Given the description of an element on the screen output the (x, y) to click on. 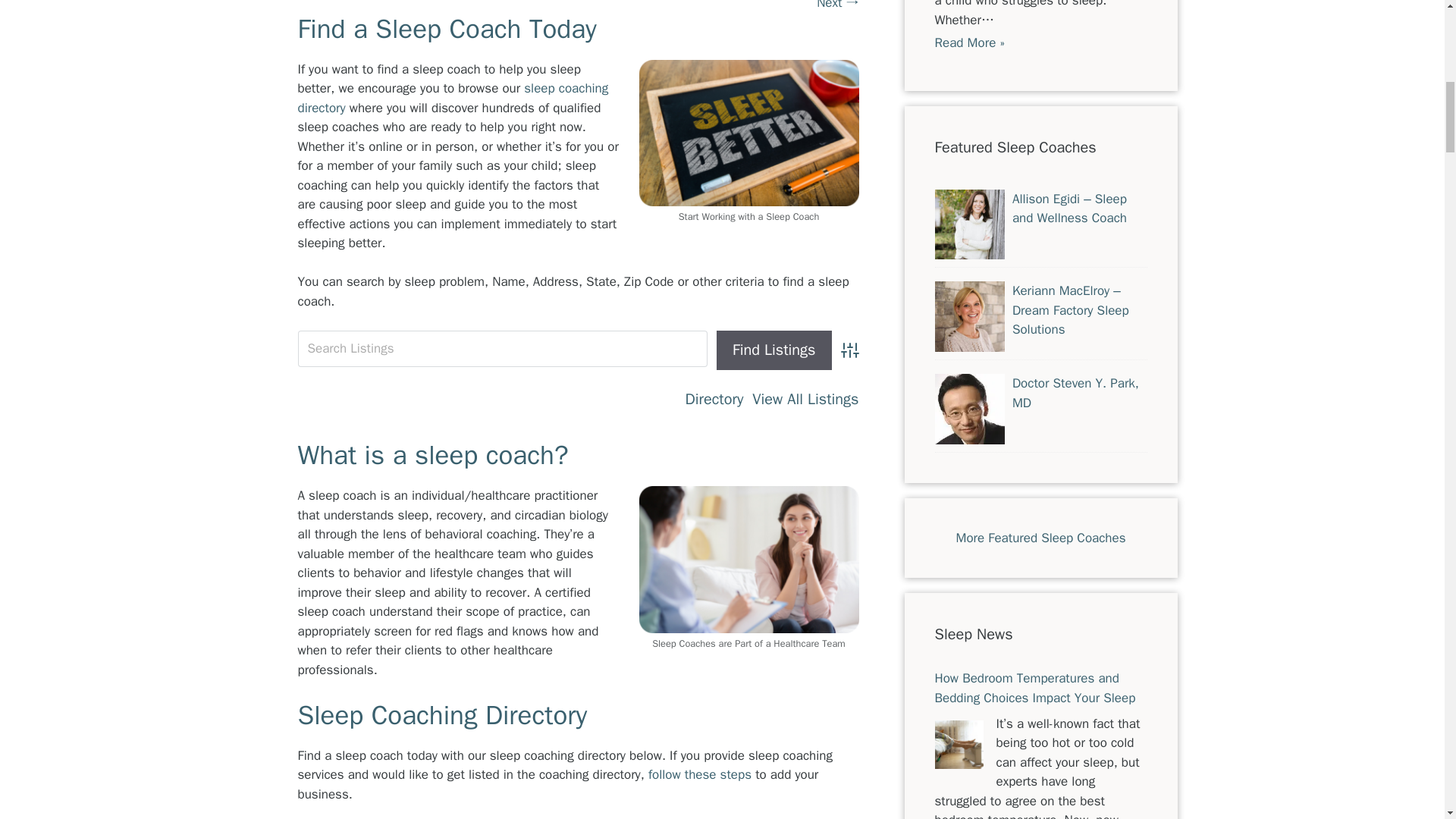
Sleep Coaches are Part of a Healthcare Team (749, 559)
Directory (714, 399)
follow these steps (699, 774)
sleep coaching directory (452, 98)
Quick search keywords (502, 348)
View All Listings (805, 399)
Find Listings (773, 350)
Start Working with a Sleep Coach (749, 132)
Find Listings (773, 350)
